Given the description of an element on the screen output the (x, y) to click on. 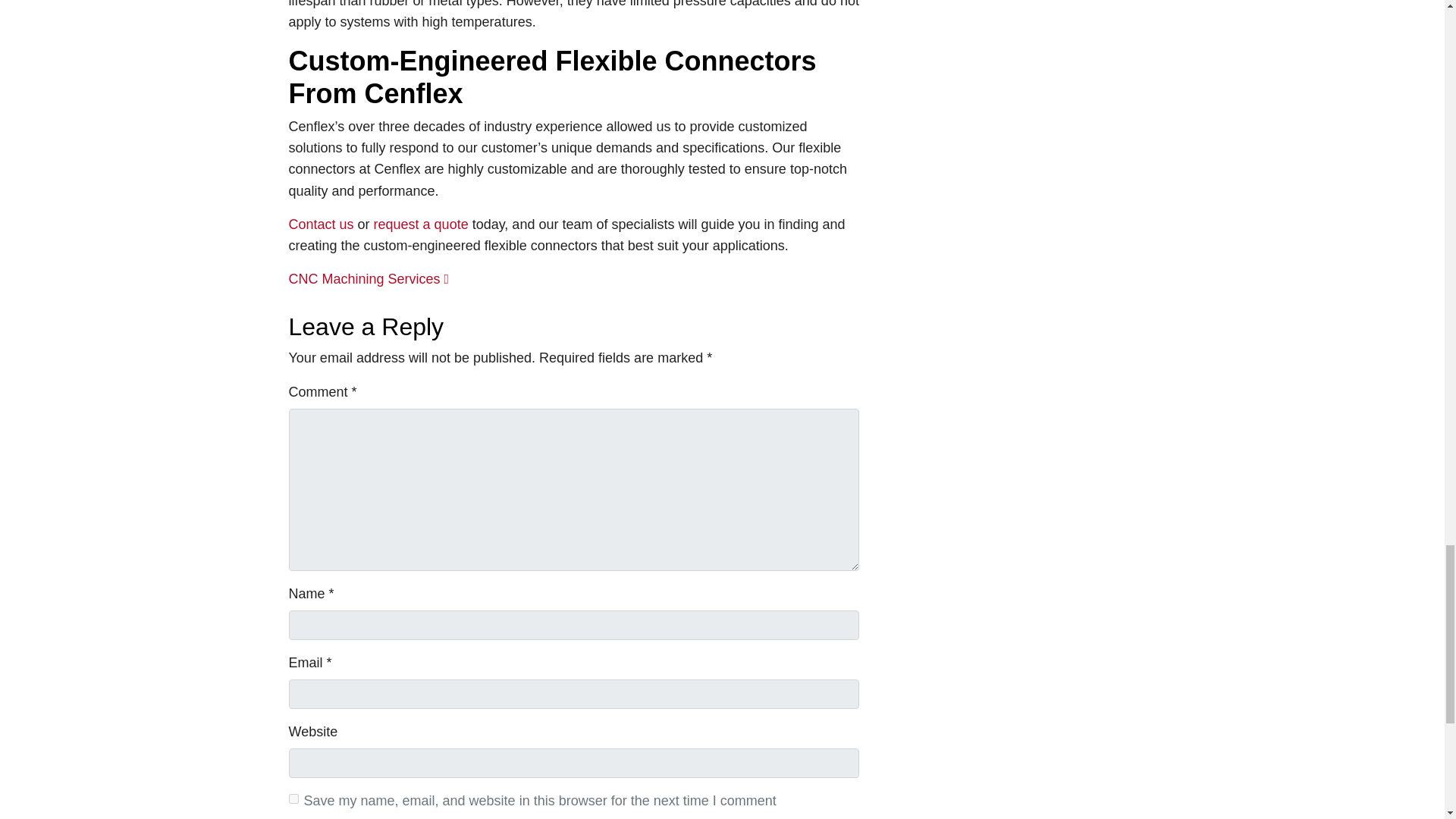
yes (293, 798)
